Given the description of an element on the screen output the (x, y) to click on. 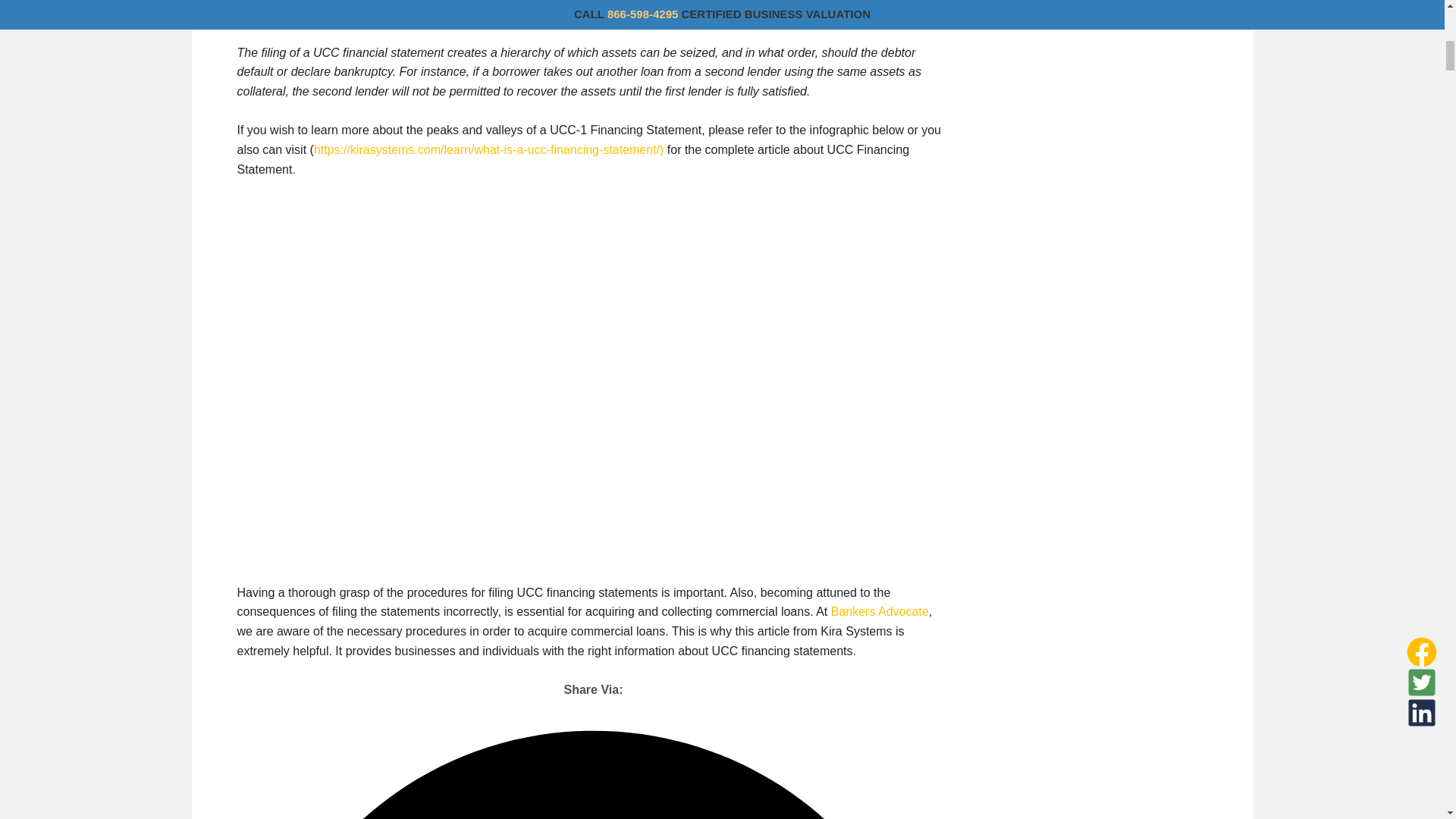
Bankers Advocate (879, 611)
